Given the description of an element on the screen output the (x, y) to click on. 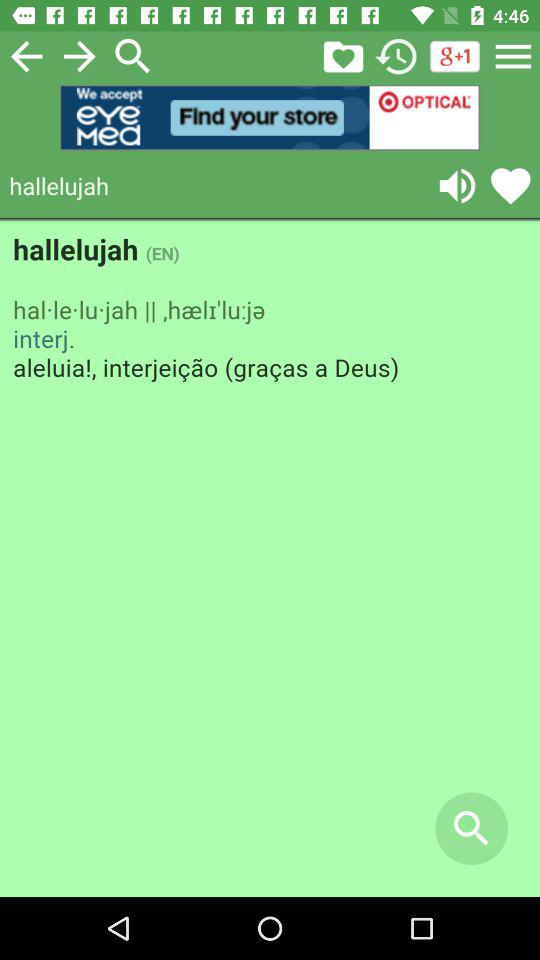
add to favourites (510, 185)
